Given the description of an element on the screen output the (x, y) to click on. 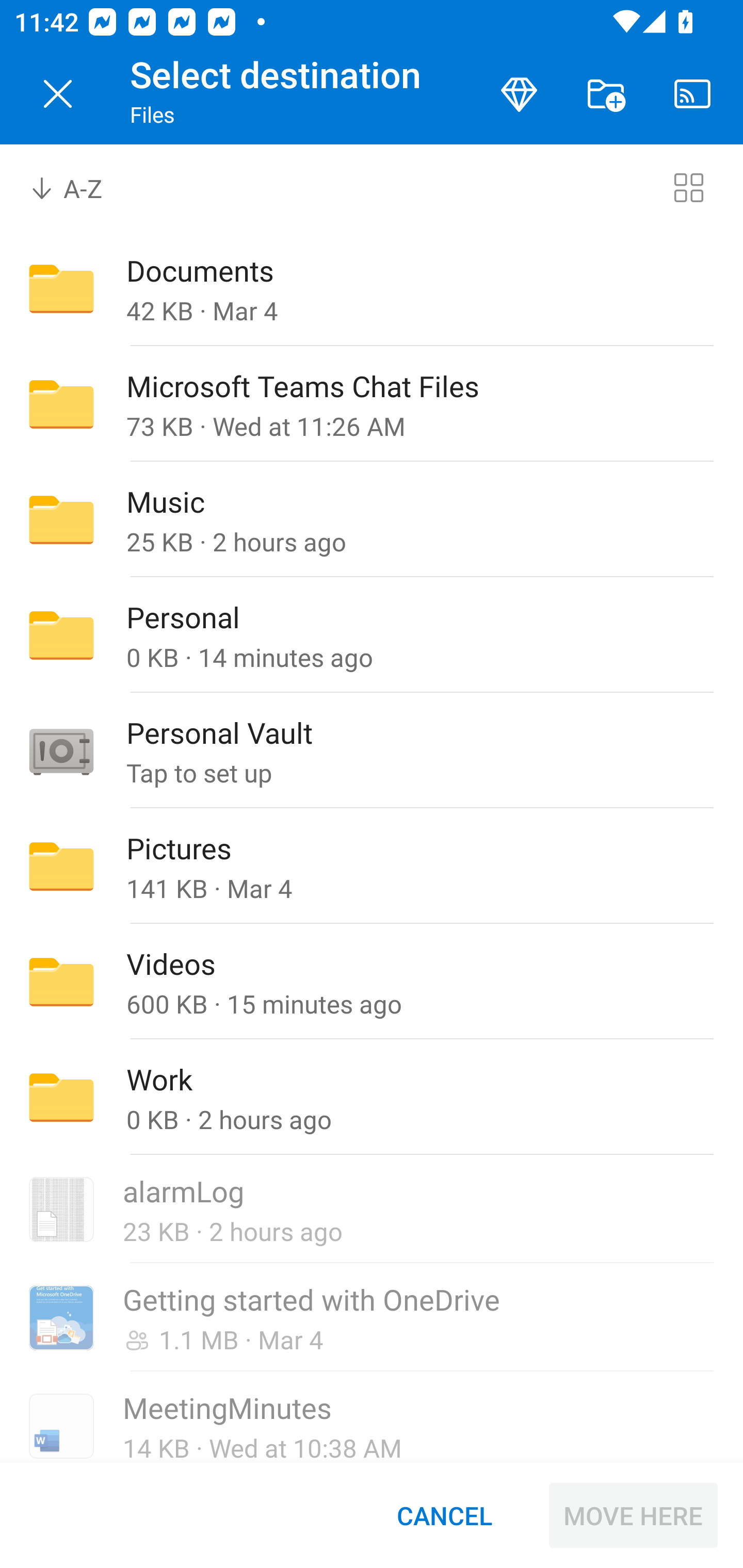
Close (57, 93)
Cast. Disconnected (692, 93)
Premium button (518, 93)
More actions button (605, 93)
A-Z Sort by combo box, sort by name, A to Z (80, 187)
Switch to tiles view (688, 187)
Folder Documents 42 KB · Mar 4 (371, 288)
Folder Music 25 KB · 2 hours ago (371, 519)
Folder Personal 0 KB · 14 minutes ago (371, 635)
Folder Personal Vault Tap to set up (371, 751)
Folder Pictures 141 KB · Mar 4 (371, 866)
Folder Videos 600 KB · 15 minutes ago (371, 981)
Folder Work 0 KB · 2 hours ago (371, 1097)
Document alarmLog 23 KB · 2 hours ago (371, 1209)
CANCEL (443, 1515)
MOVE HERE (633, 1515)
